Given the description of an element on the screen output the (x, y) to click on. 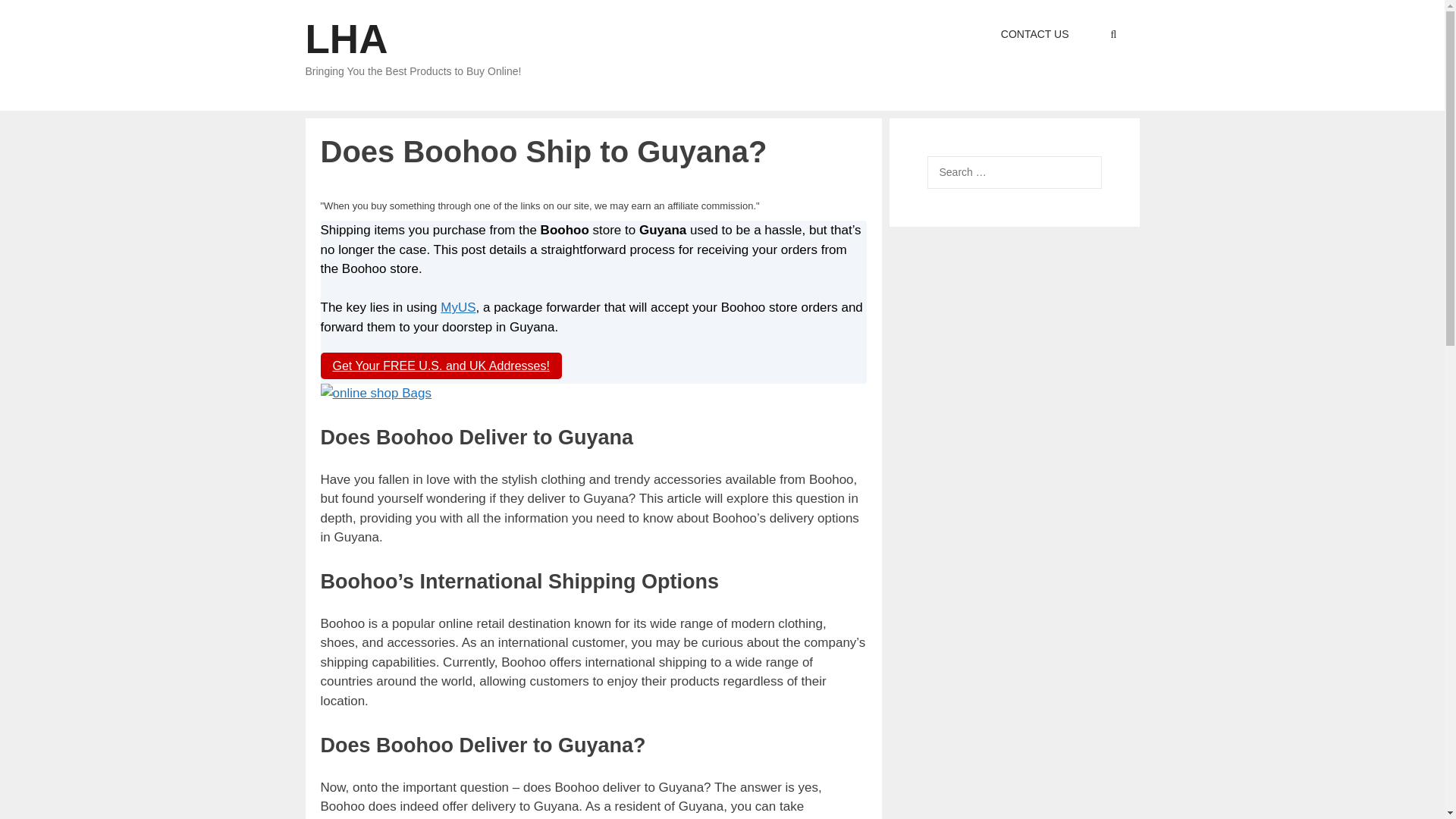
Get Your FREE U.S. and UK Addresses! (440, 365)
MyUS (458, 307)
CONTACT US (1034, 34)
Search for: (1013, 172)
LHA (345, 38)
Search (36, 15)
